Given the description of an element on the screen output the (x, y) to click on. 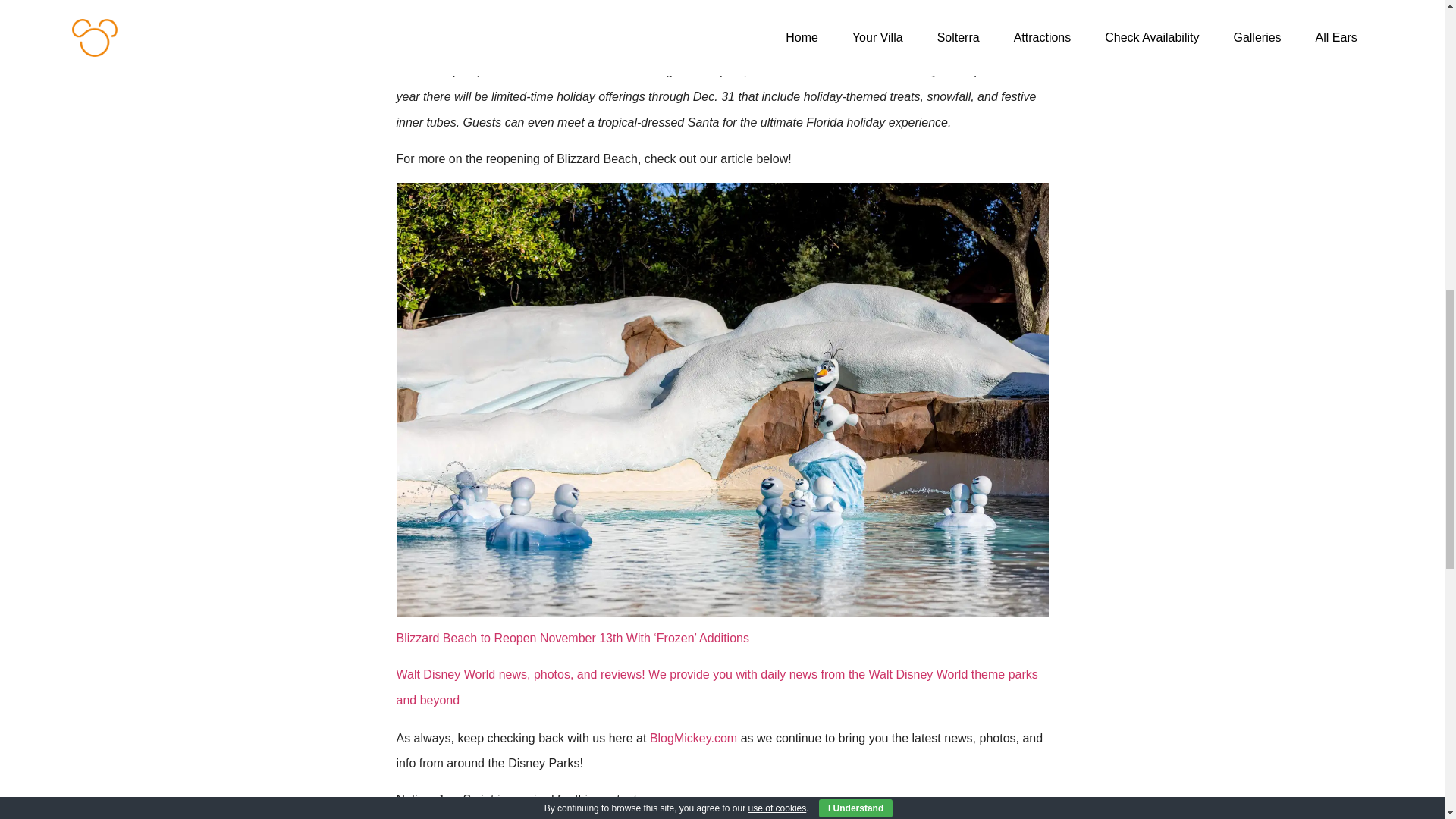
BlogMickey.com (692, 738)
